Given the description of an element on the screen output the (x, y) to click on. 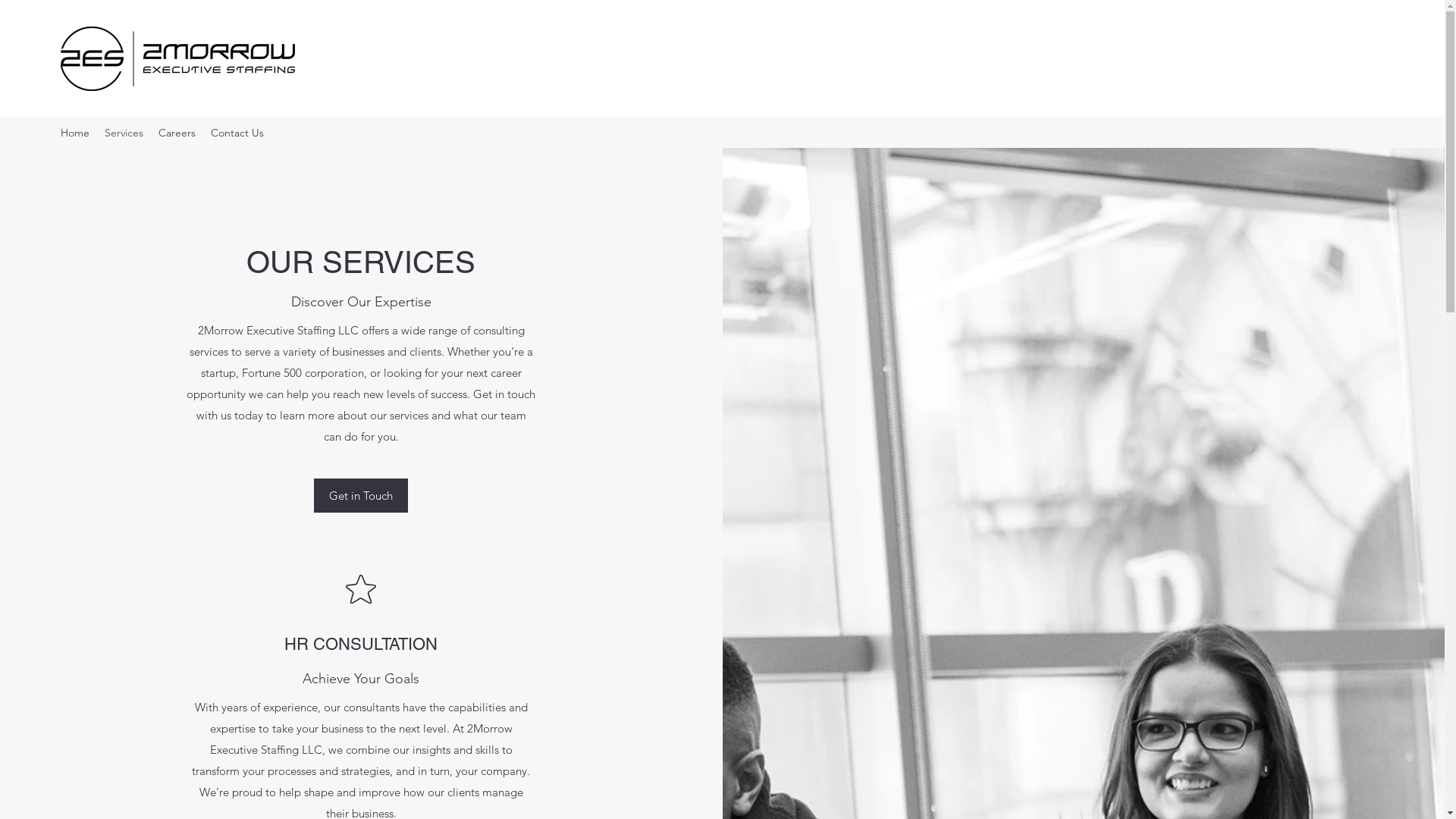
Services Element type: text (123, 132)
Contact Us Element type: text (237, 132)
Home Element type: text (75, 132)
Get in Touch Element type: text (360, 495)
Careers Element type: text (176, 132)
